Given the description of an element on the screen output the (x, y) to click on. 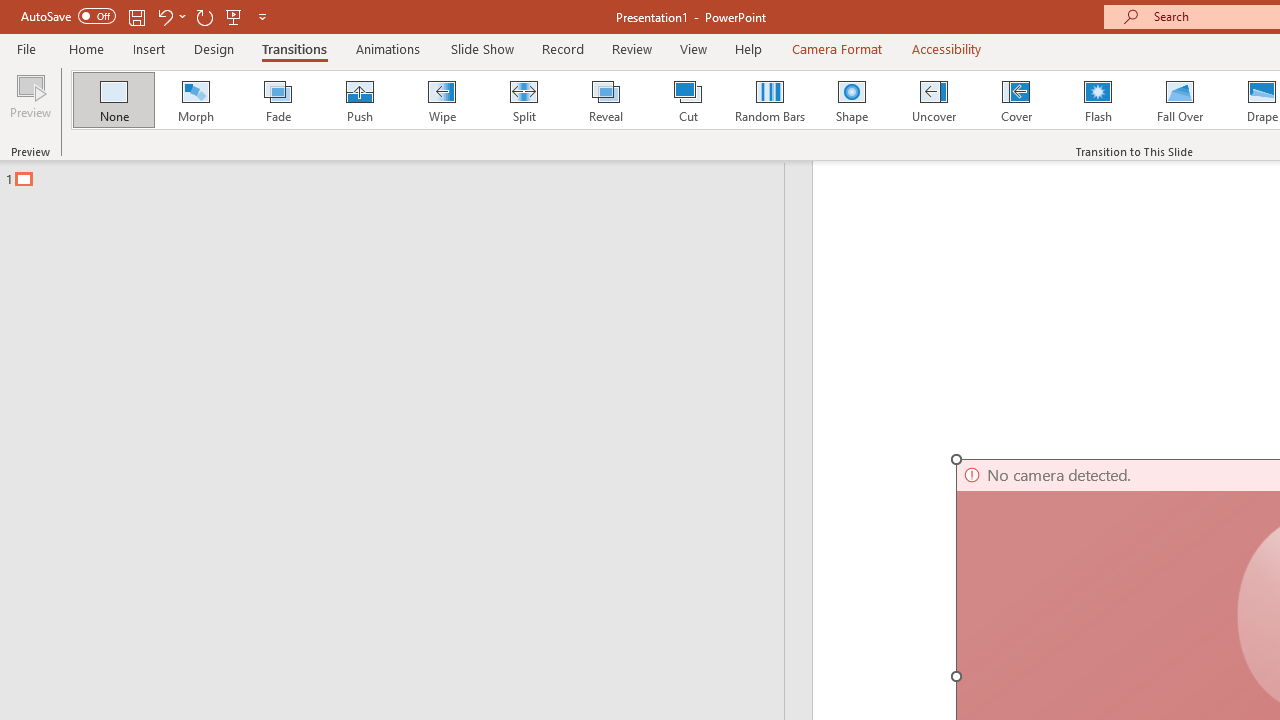
System (10, 11)
From Beginning (234, 15)
Fade (277, 100)
Cover (1016, 100)
Morph (195, 100)
Fall Over (1180, 100)
Help (748, 48)
Undo (170, 15)
Review (631, 48)
Wipe (441, 100)
Animations (388, 48)
Home (86, 48)
Preview (30, 102)
Design (214, 48)
View (693, 48)
